Given the description of an element on the screen output the (x, y) to click on. 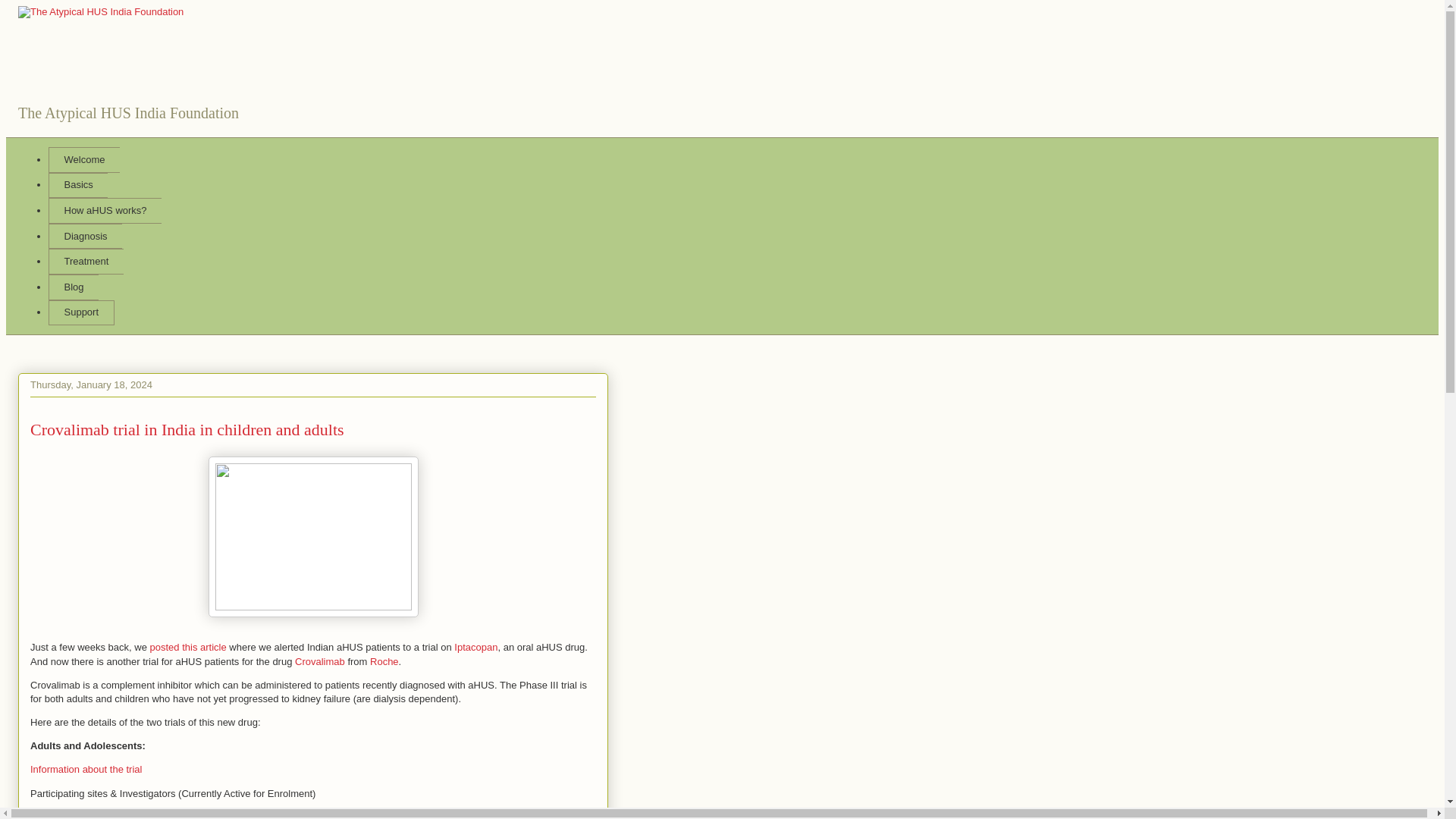
posted this article (188, 646)
Crovalimab trial in India in children and adults (186, 429)
How aHUS works? (104, 210)
Basics (77, 185)
Crovalimab (320, 661)
Support (81, 312)
Information about the trial (85, 768)
Blog (73, 287)
Iptacopan (475, 646)
Roche (383, 661)
Welcome (83, 159)
Treatment (85, 261)
Diagnosis (85, 236)
